Given the description of an element on the screen output the (x, y) to click on. 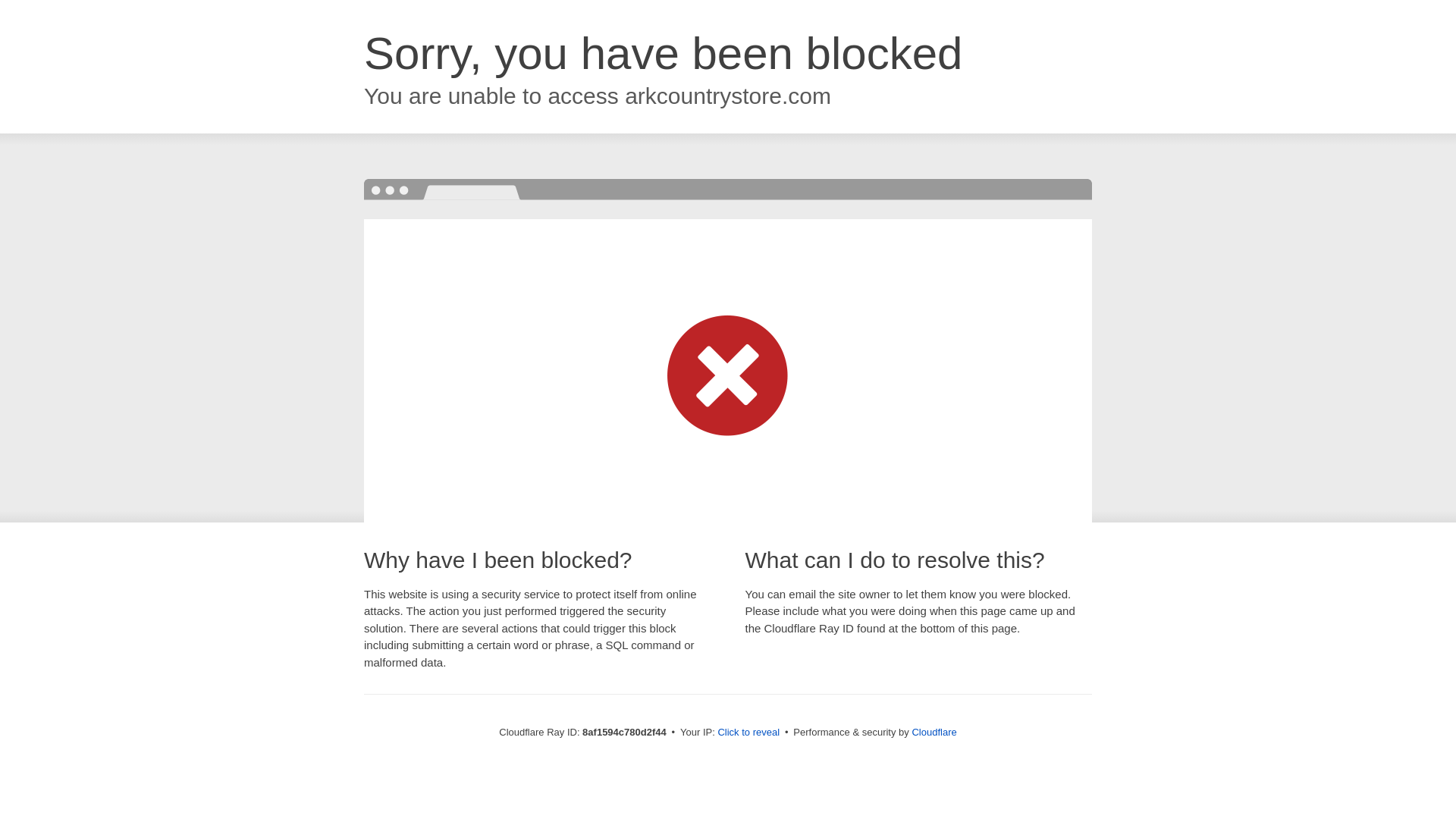
Cloudflare (933, 731)
Click to reveal (747, 732)
